Given the description of an element on the screen output the (x, y) to click on. 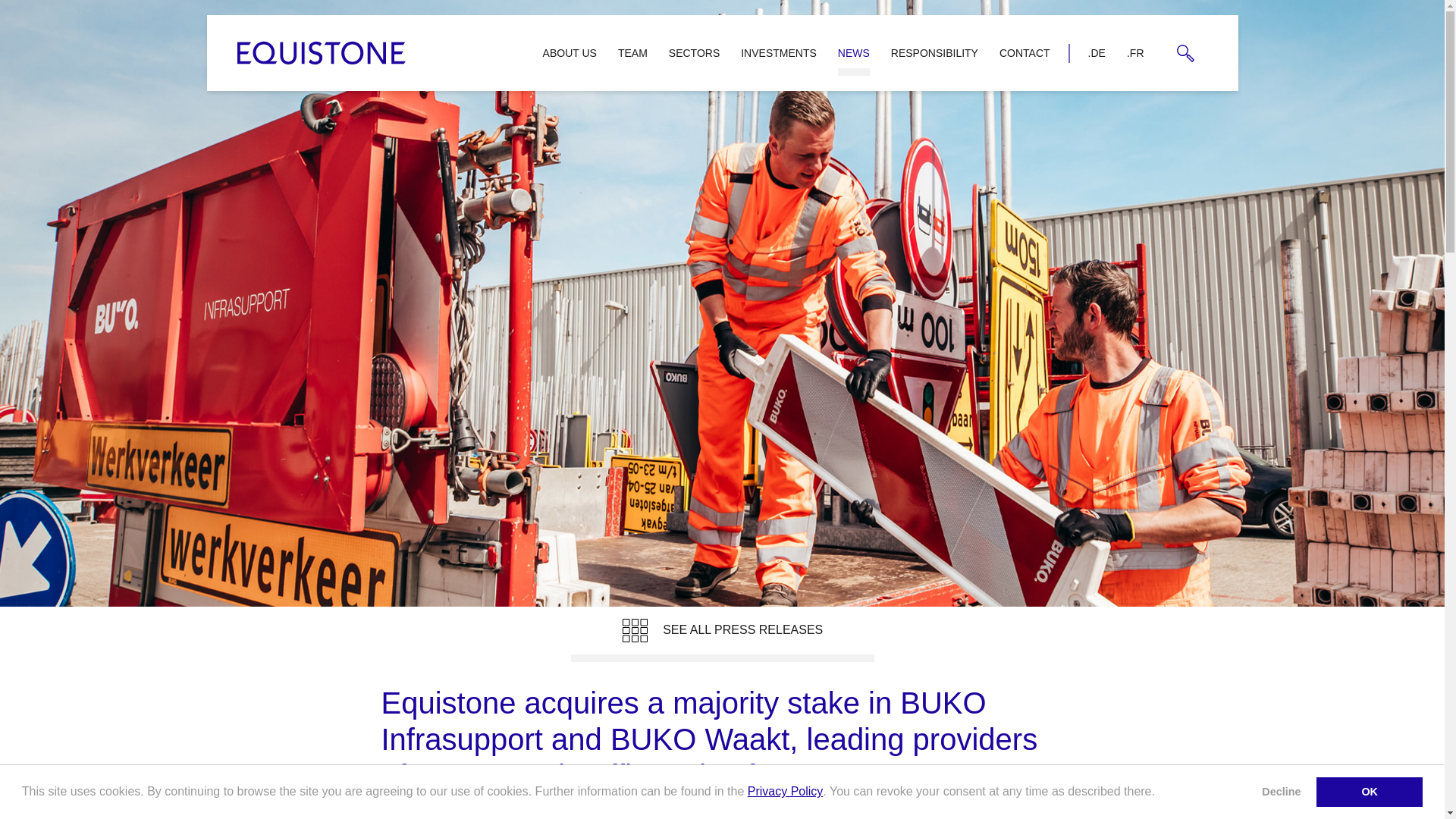
.DE (1096, 52)
Privacy Policy (786, 790)
CONTACT (1024, 52)
RESPONSIBILITY (934, 52)
OK (1369, 791)
INVESTMENTS (778, 52)
.FR (1135, 52)
NEWS (853, 52)
SECTORS (694, 52)
TEAM (632, 52)
SEE ALL PRESS RELEASES (721, 633)
Decline (1281, 791)
ABOUT US (569, 52)
